Given the description of an element on the screen output the (x, y) to click on. 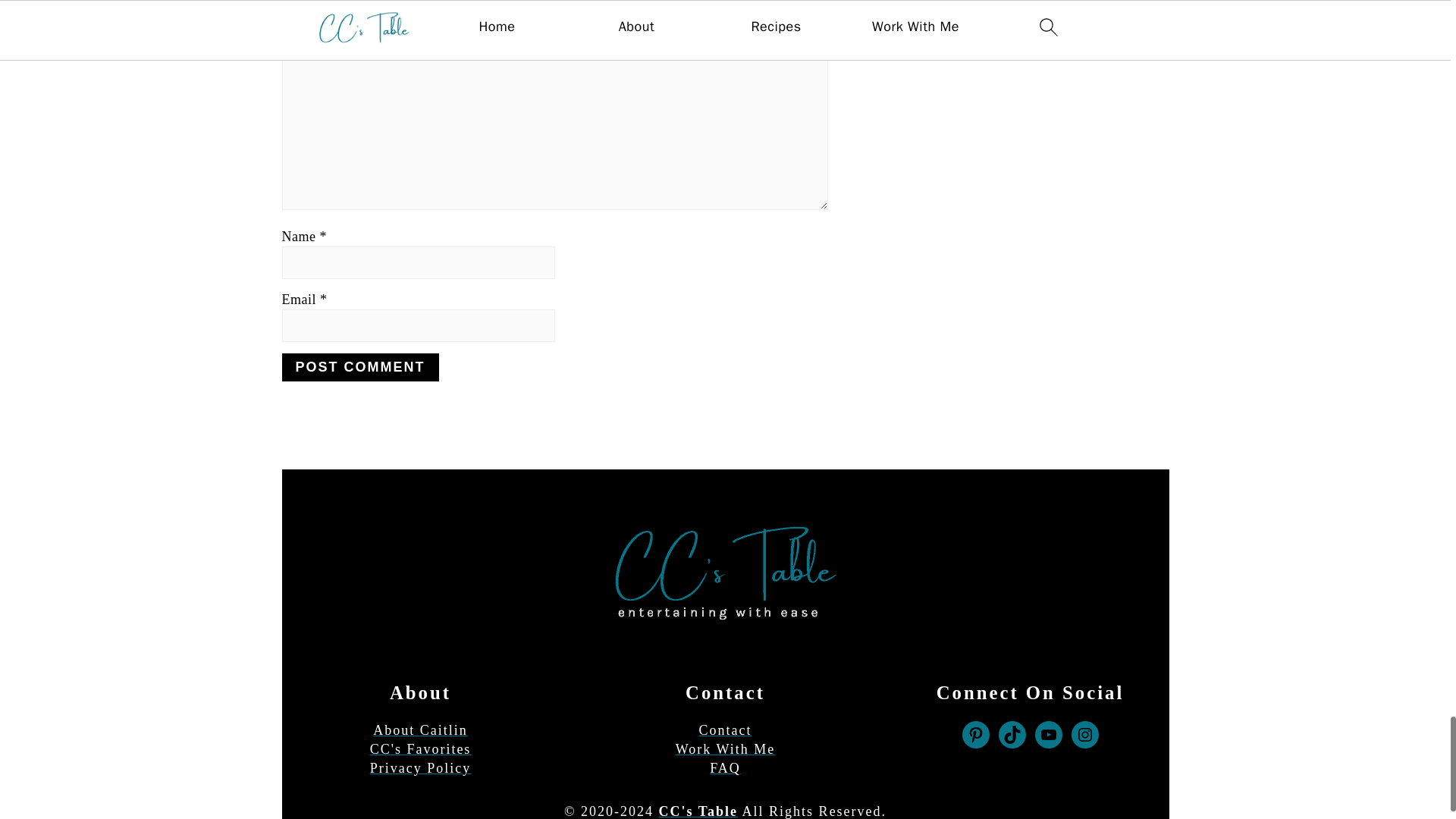
Post Comment (360, 366)
